Given the description of an element on the screen output the (x, y) to click on. 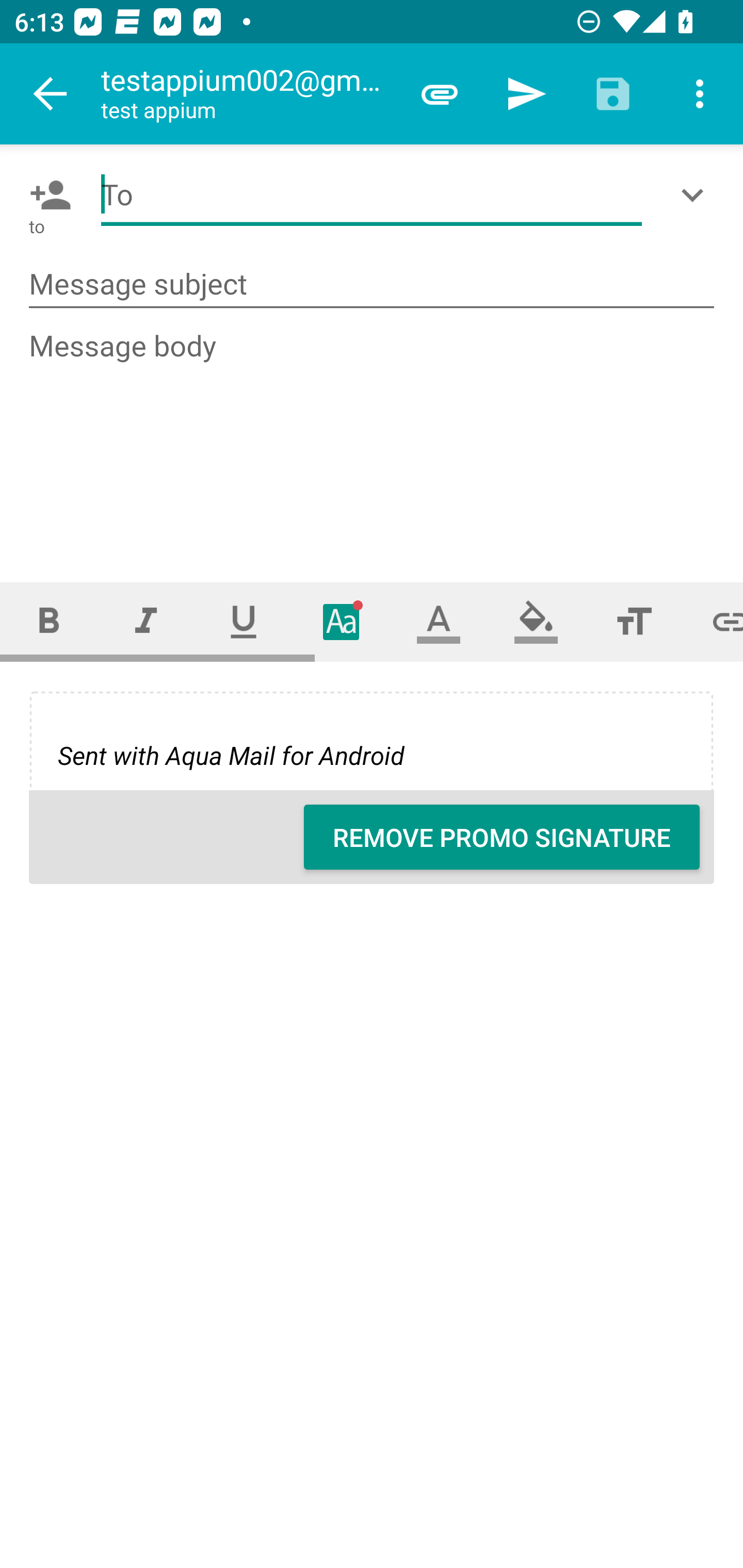
Navigate up (50, 93)
testappium002@gmail.com test appium (248, 93)
Attach (439, 93)
Send (525, 93)
Save (612, 93)
More options (699, 93)
Pick contact: To (46, 195)
Show/Add CC/BCC (696, 195)
To (371, 195)
Message subject (371, 284)
Bold (48, 621)
Italic (145, 621)
Underline (243, 621)
Typeface (font) (341, 621)
Text color (438, 621)
Fill color (536, 621)
Font size (633, 621)
REMOVE PROMO SIGNATURE (501, 837)
